Given the description of an element on the screen output the (x, y) to click on. 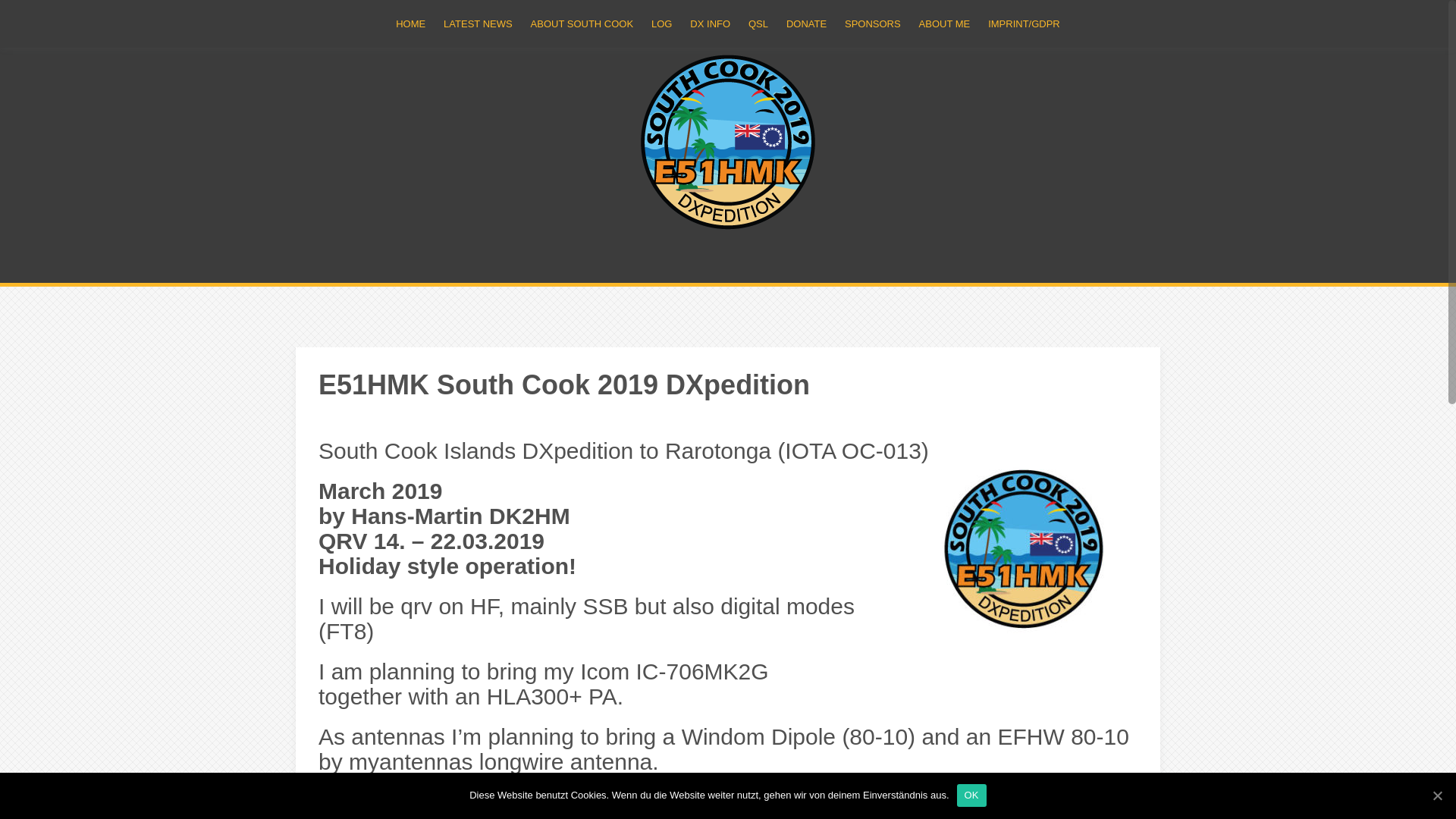
QSL (758, 23)
OK (971, 794)
E51HMK South Cook 2019 DXpedition by DK2HM (727, 141)
ABOUT SOUTH COOK (582, 23)
LATEST NEWS (478, 23)
HOME (410, 23)
DX INFO (710, 23)
LOG (660, 23)
DONATE (806, 23)
ABOUT ME (944, 23)
SPONSORS (872, 23)
